Given the description of an element on the screen output the (x, y) to click on. 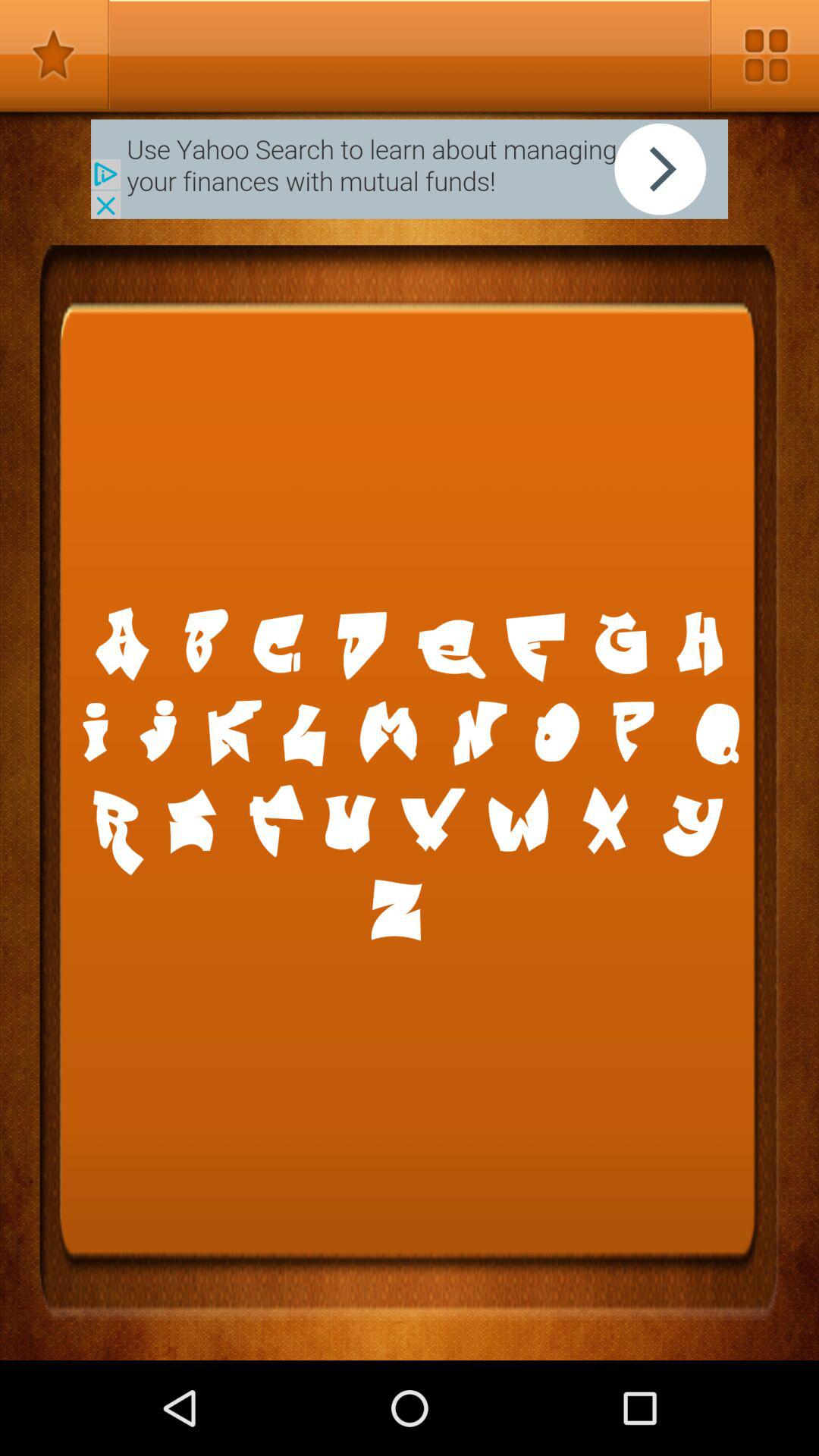
advisement (409, 168)
